Given the description of an element on the screen output the (x, y) to click on. 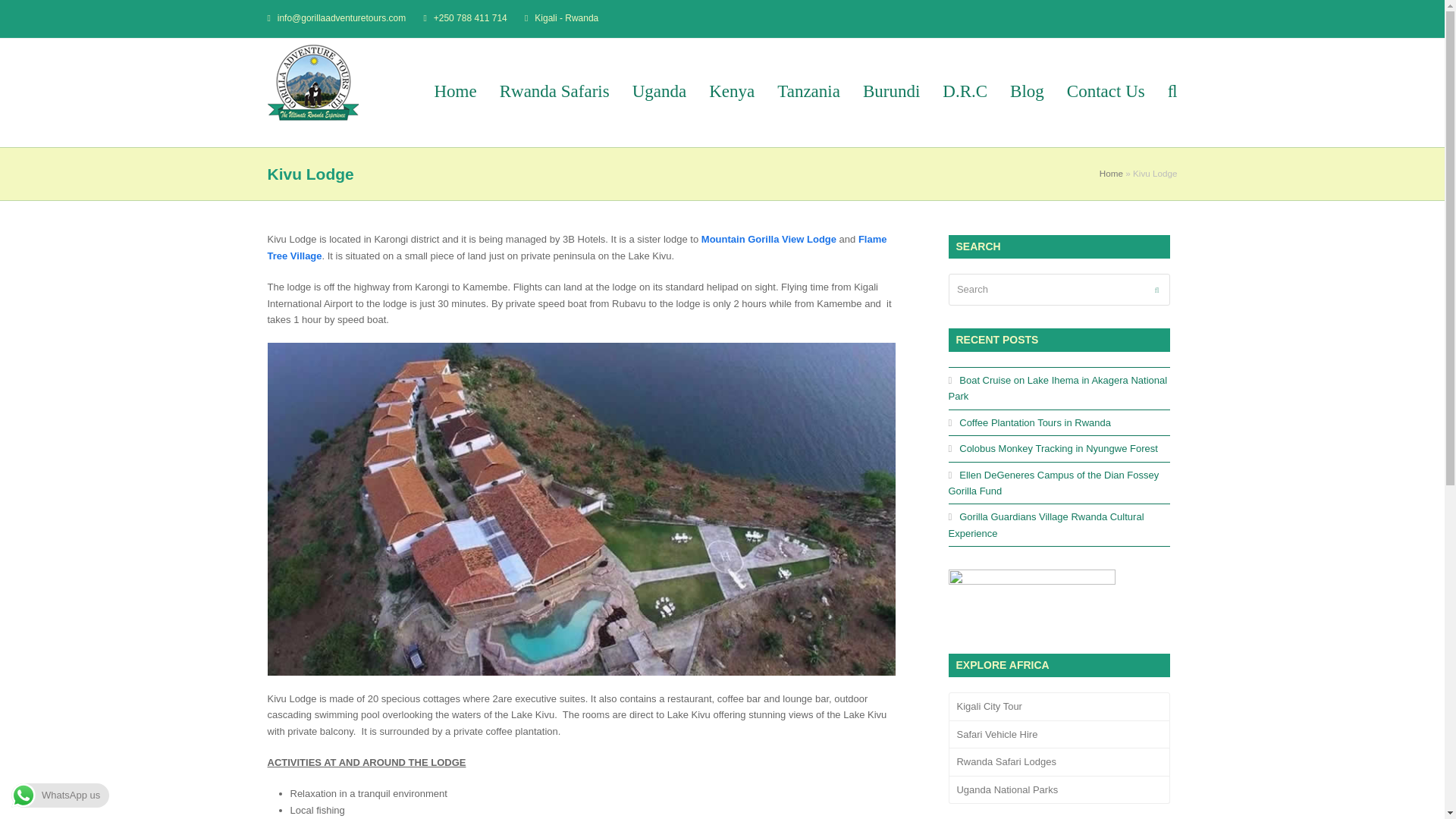
Colobus Monkey Tracking in Nyungwe Forest (1052, 448)
Uganda (659, 92)
D.R.C (964, 92)
Home (454, 92)
Kenya (731, 92)
Contact Us (1105, 92)
Rwanda Safari Lodges (1058, 761)
Mountain Gorilla View Lodge (768, 238)
Blog (1026, 92)
Flame Tree Village (576, 247)
Uganda National Parks (1058, 789)
Ellen DeGeneres Campus of the Dian Fossey Gorilla Fund (1052, 482)
Safari Vehicle Hire (1058, 734)
Gorilla Guardians Village Rwanda Cultural Experience (1044, 524)
Rwanda Safaris (554, 92)
